Given the description of an element on the screen output the (x, y) to click on. 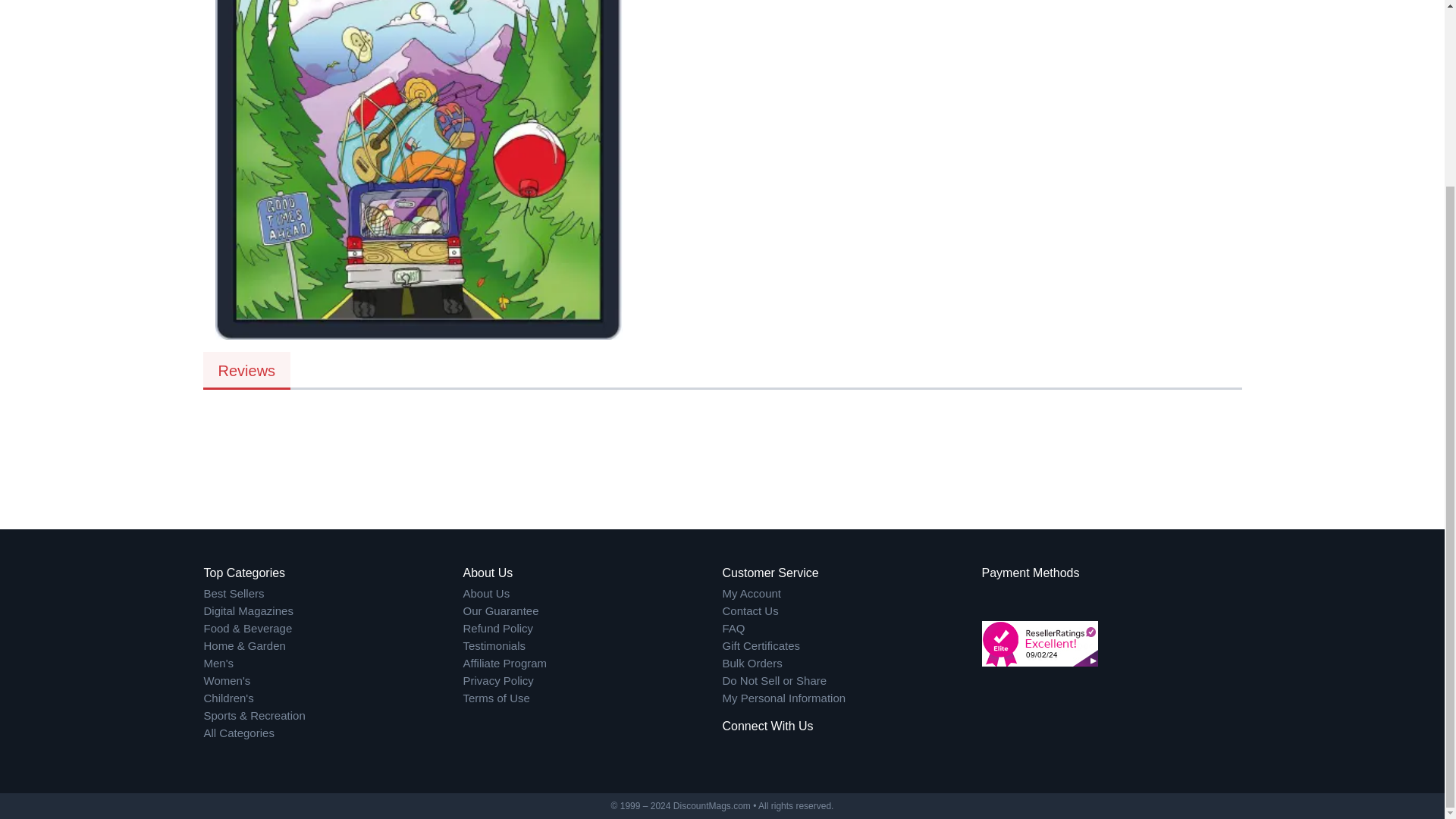
Bulk Orders (851, 663)
FAQ (851, 628)
Digital Magazines (333, 610)
Privacy Policy (592, 681)
Affiliate Program (592, 663)
Terms of Use (592, 698)
Contact Us (851, 610)
My Account (851, 593)
Our Guarantee (592, 610)
Reviews (247, 370)
